Given the description of an element on the screen output the (x, y) to click on. 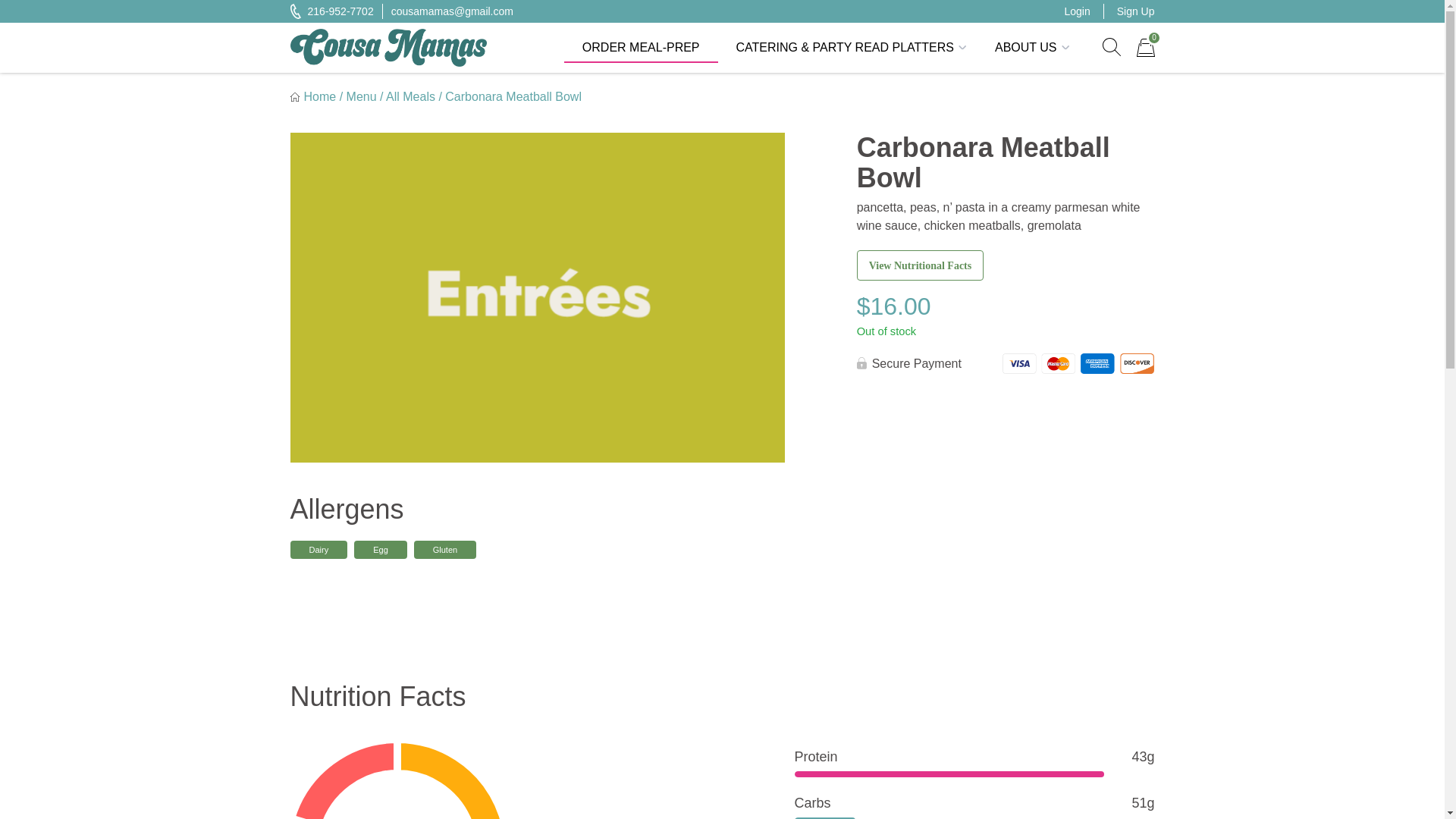
Sign Up (1135, 10)
Show search form (1110, 46)
ORDER MEAL-PREP (640, 47)
Login (1076, 10)
ABOUT US (1028, 47)
header-images-entrees (1145, 47)
216-952-7702 (1110, 46)
View your shopping cart (330, 11)
View Nutritional Facts (1145, 47)
